Given the description of an element on the screen output the (x, y) to click on. 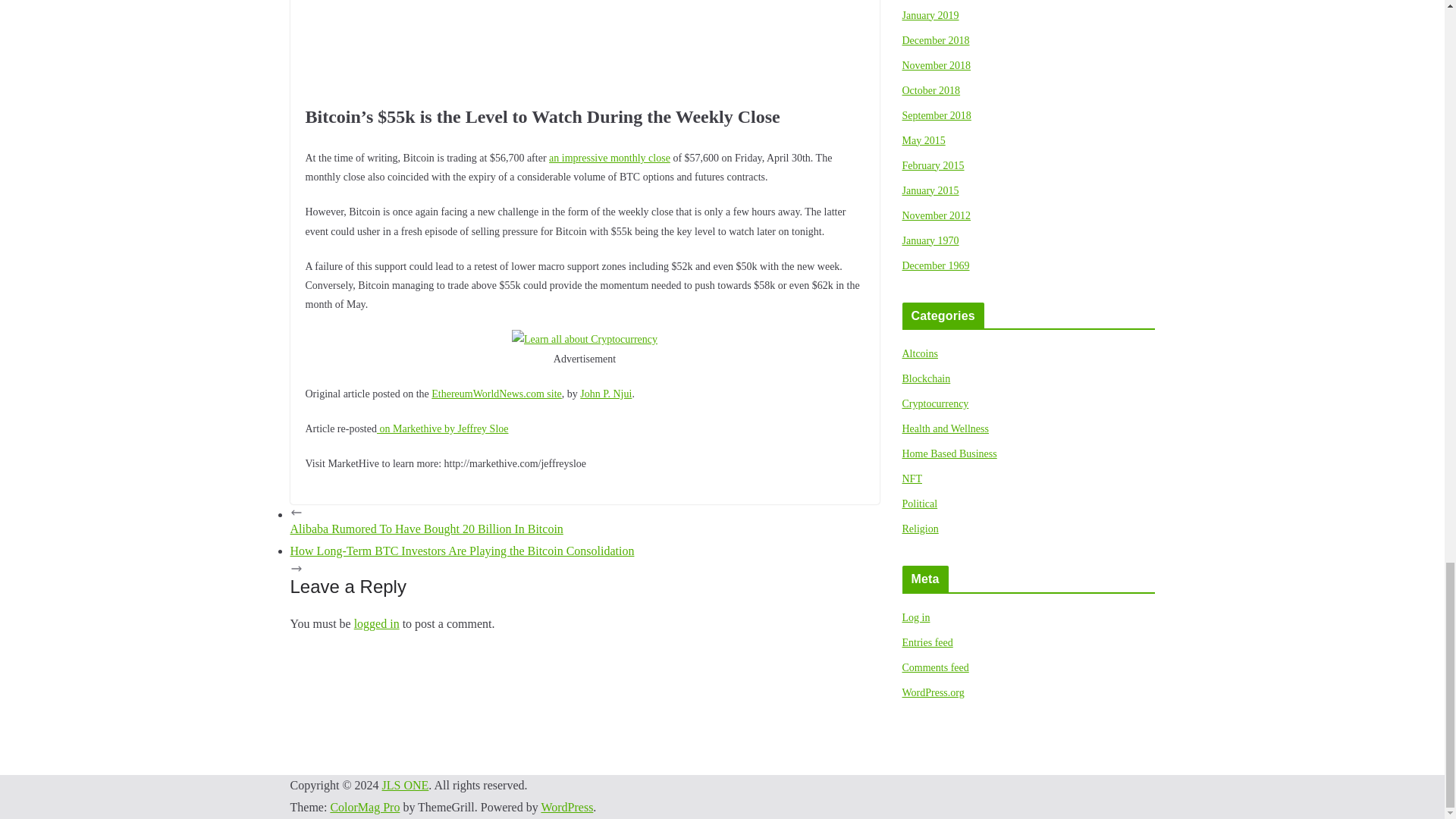
ColorMag Pro (364, 807)
WordPress (566, 807)
EthereumWorldNews.com site (496, 393)
logged in (375, 623)
John P. Njui (605, 393)
an impressive monthly close (608, 157)
on Markethive by Jeffrey Sloe (442, 428)
Learn all about Cryptocurrency at Cryptoversity (585, 339)
JLS ONE (405, 784)
